Given the description of an element on the screen output the (x, y) to click on. 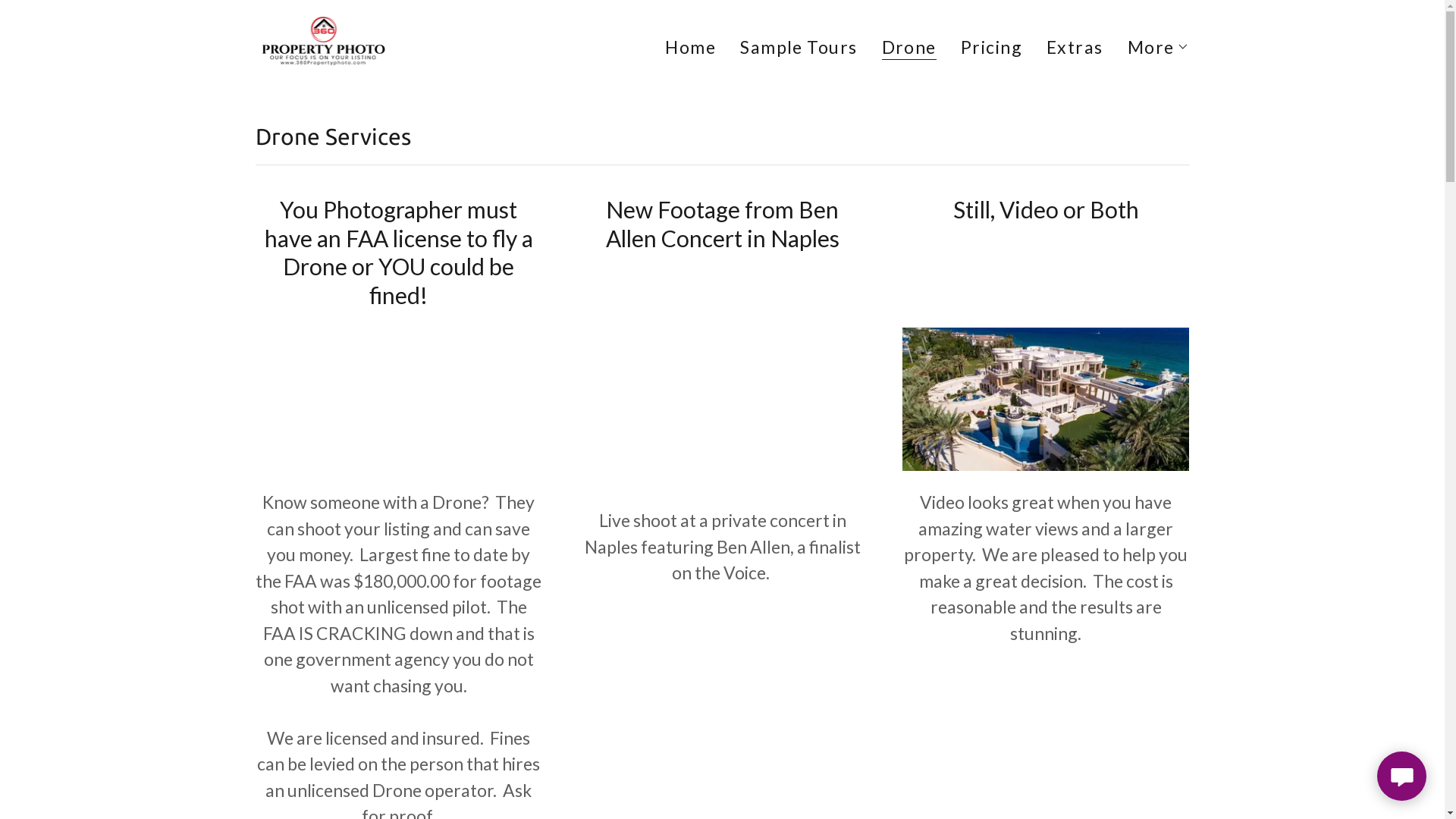
Pricing Element type: text (991, 46)
360 Property Marketing Element type: hover (323, 42)
Home Element type: text (690, 46)
Extras Element type: text (1074, 46)
Sample Tours Element type: text (798, 46)
More Element type: text (1158, 46)
Drone Element type: text (908, 48)
